Given the description of an element on the screen output the (x, y) to click on. 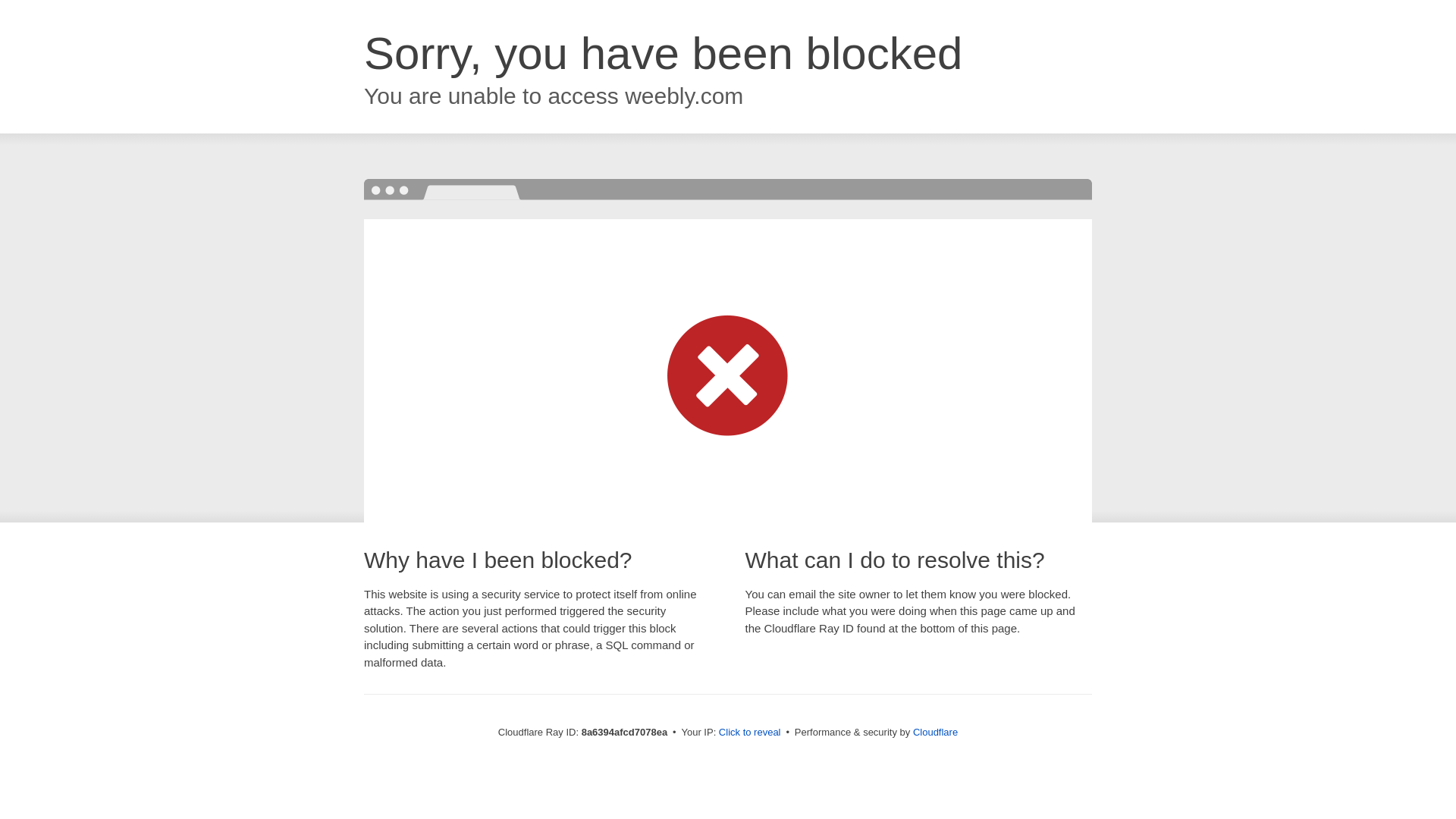
Click to reveal (749, 732)
Cloudflare (935, 731)
